Given the description of an element on the screen output the (x, y) to click on. 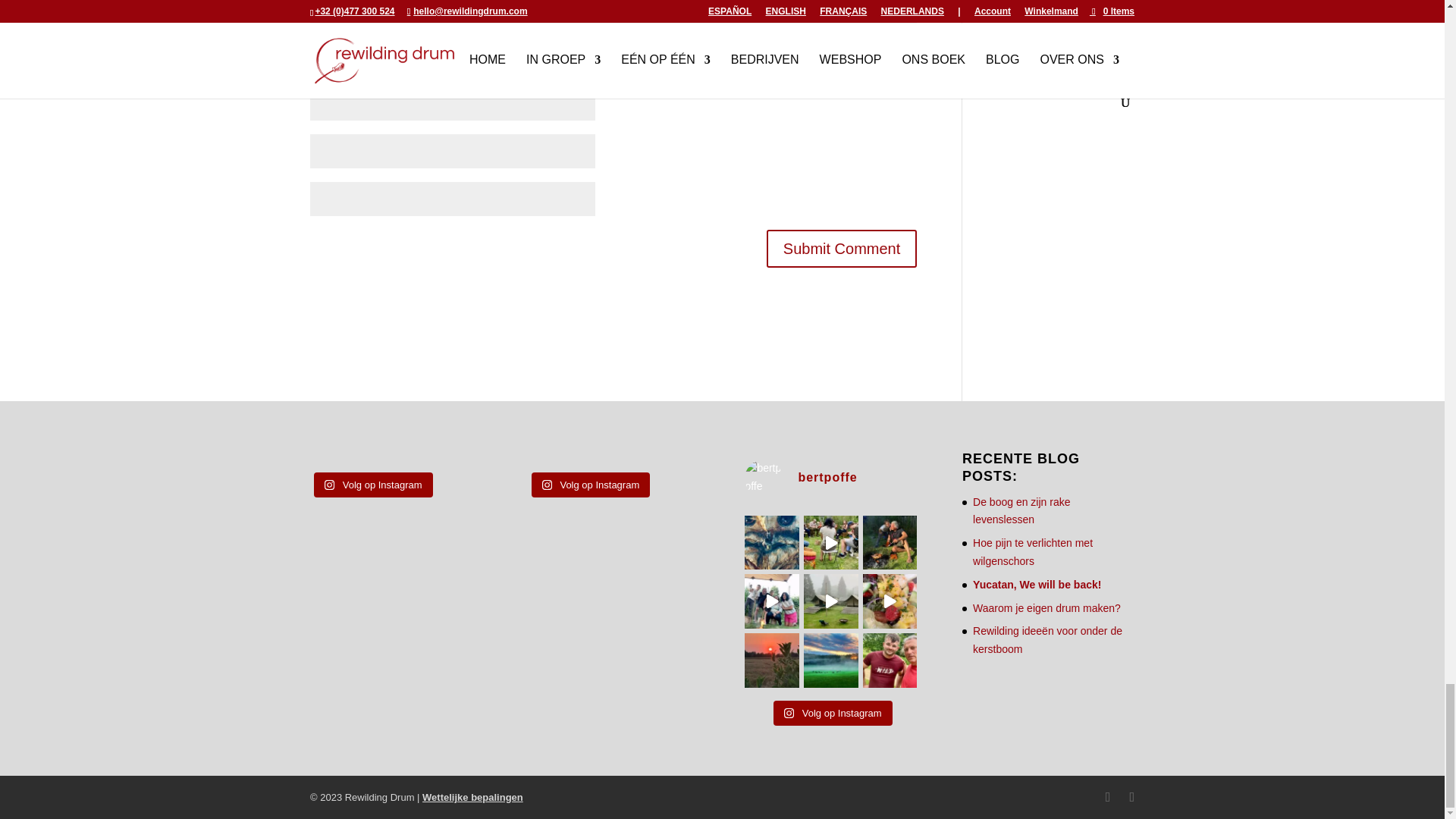
Submit Comment (842, 248)
